Given the description of an element on the screen output the (x, y) to click on. 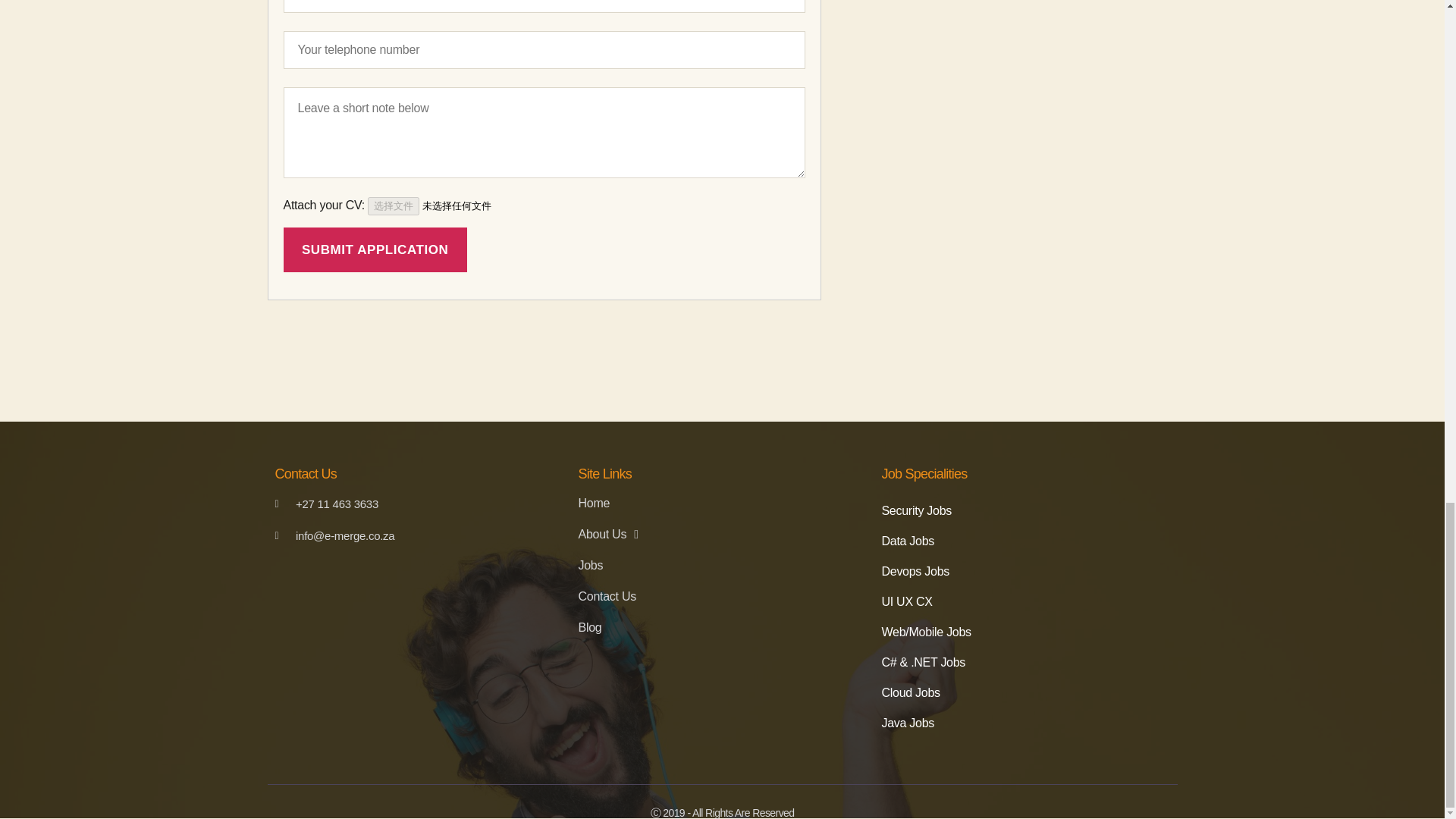
About Us (722, 534)
Home (722, 503)
Submit application (375, 249)
Jobs (722, 565)
Submit application (375, 249)
